Given the description of an element on the screen output the (x, y) to click on. 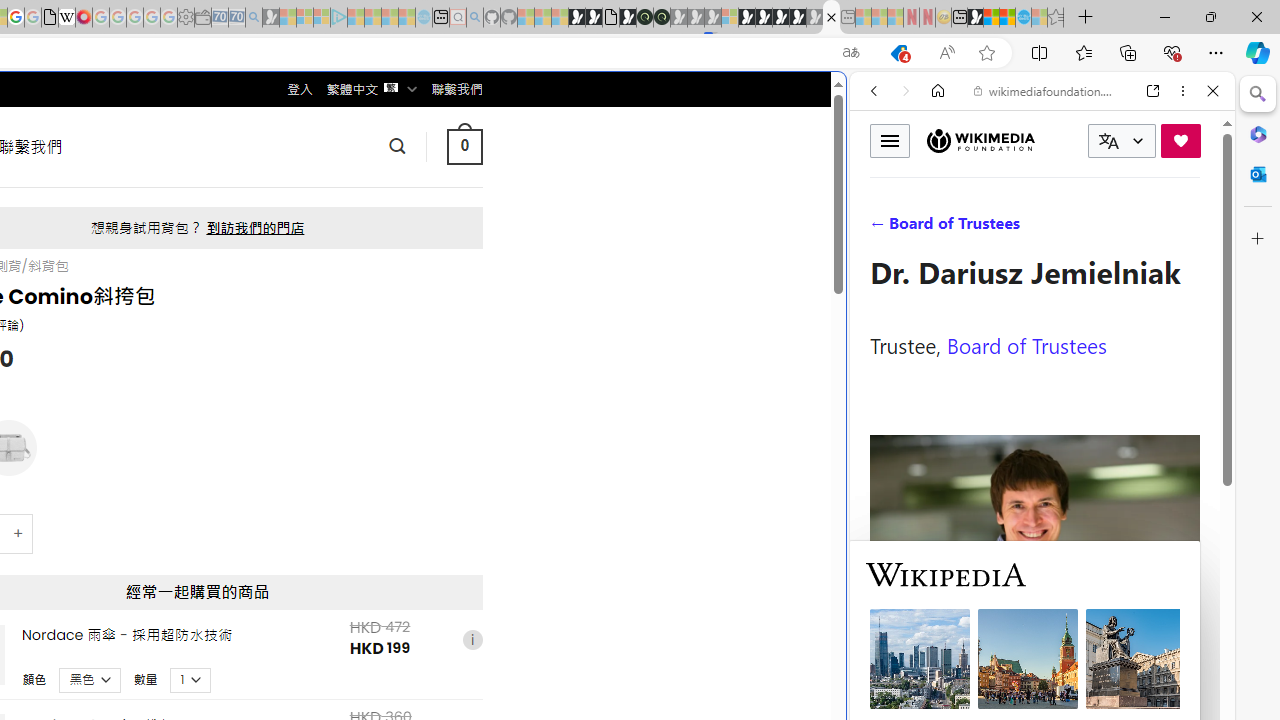
Future Focus Report 2024 (661, 17)
Board of Trustees (1026, 344)
